Given the description of an element on the screen output the (x, y) to click on. 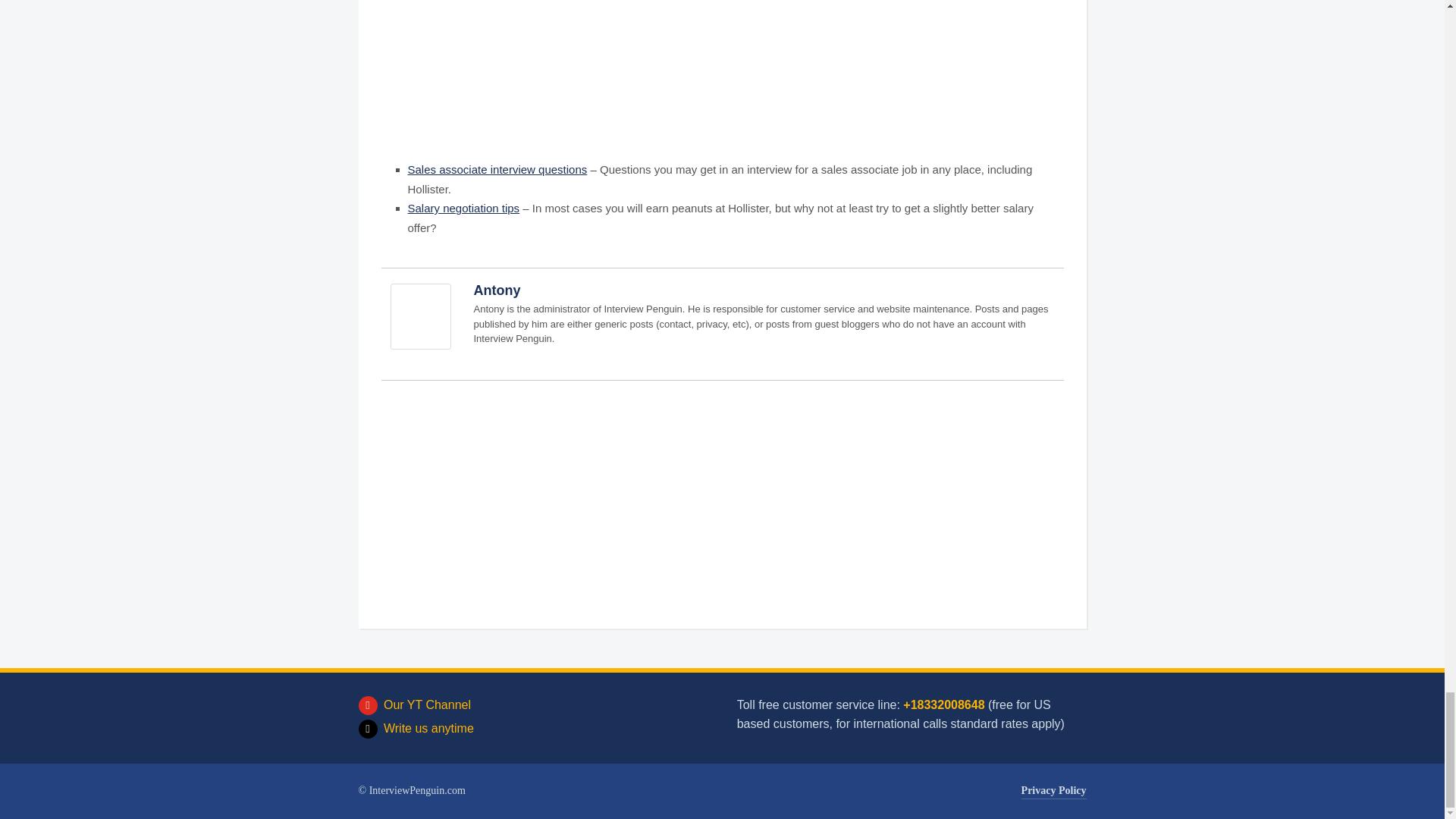
Write us anytime (415, 727)
Antony (419, 322)
Our YT Channel  (414, 704)
